Given the description of an element on the screen output the (x, y) to click on. 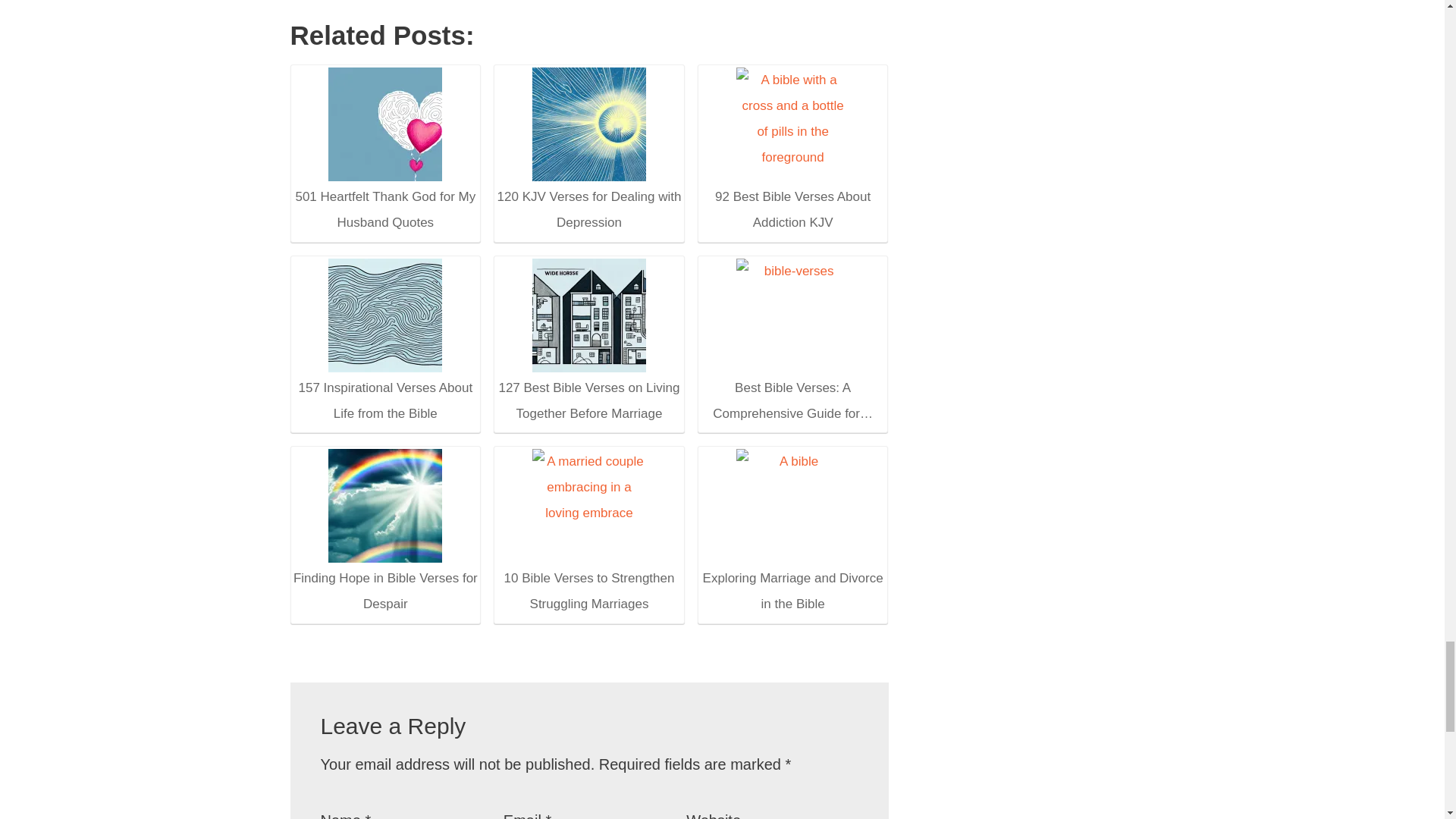
127 Best Bible Verses on Living Together Before Marriage (588, 341)
501 Heartfelt Thank God for My Husband Quotes (385, 123)
92 Best Bible Verses About Addiction KJV (793, 123)
120 KJV Verses for Dealing with Depression (589, 123)
92 Best Bible Verses About Addiction KJV (792, 151)
Finding Hope in Bible Verses for Despair (384, 532)
Exploring Marriage and Divorce in the Bible (793, 505)
Finding Hope in Bible Verses for Despair (385, 505)
157 Inspirational Verses About Life from the Bible (385, 314)
10 Bible Verses to Strengthen Struggling Marriages (589, 505)
10 Bible Verses to Strengthen Struggling Marriages (588, 532)
127 Best Bible Verses on Living Together Before Marriage (589, 314)
Exploring Marriage and Divorce in the Bible (792, 532)
120 KJV Verses for Dealing with Depression (588, 151)
501 Heartfelt Thank God for My Husband Quotes (384, 151)
